Given the description of an element on the screen output the (x, y) to click on. 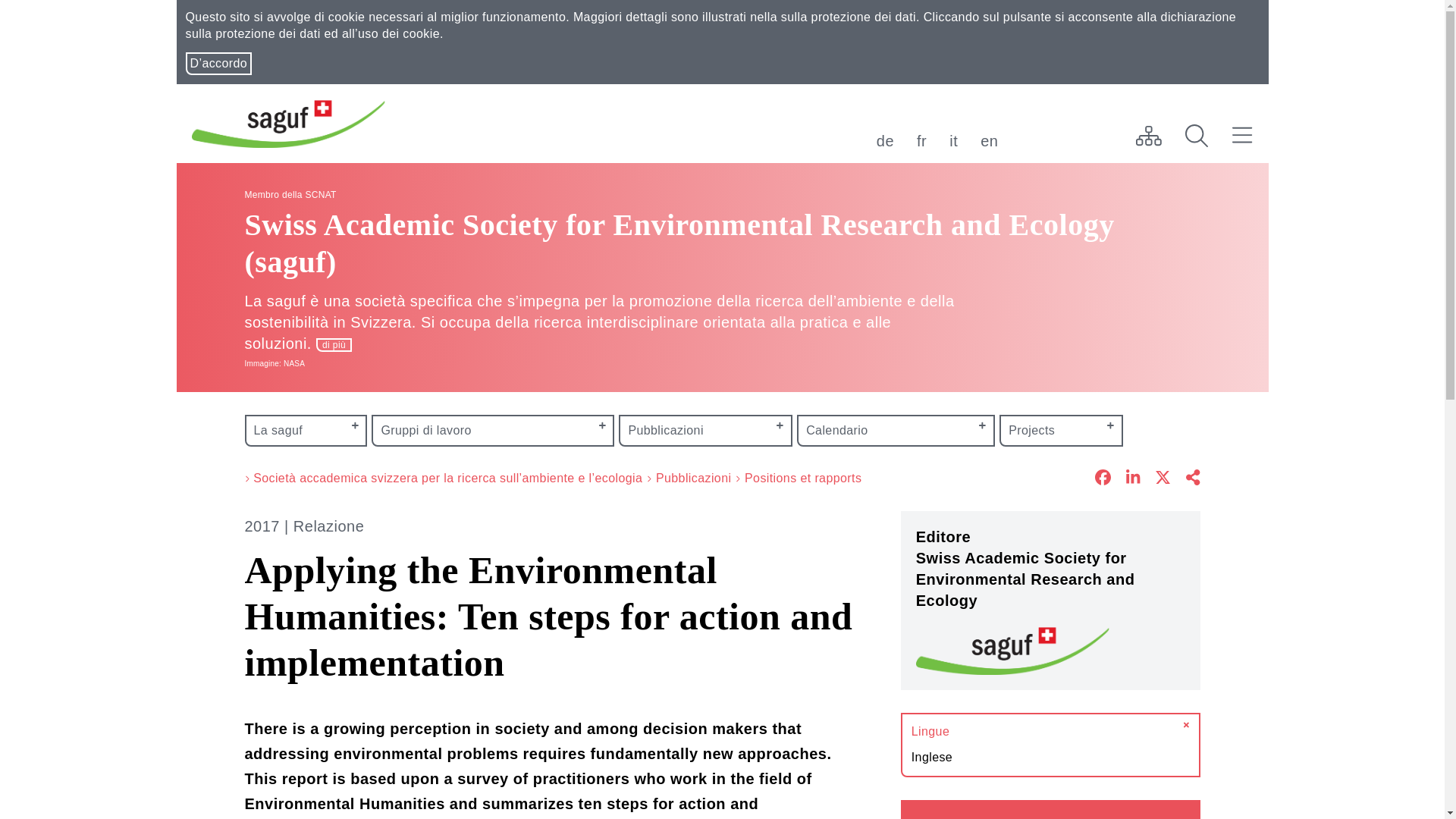
Gruppi di lavoro (492, 430)
Membro della SCNAT (290, 193)
protezione dei dati (862, 16)
en (988, 141)
La saguf (305, 430)
de (884, 141)
